Given the description of an element on the screen output the (x, y) to click on. 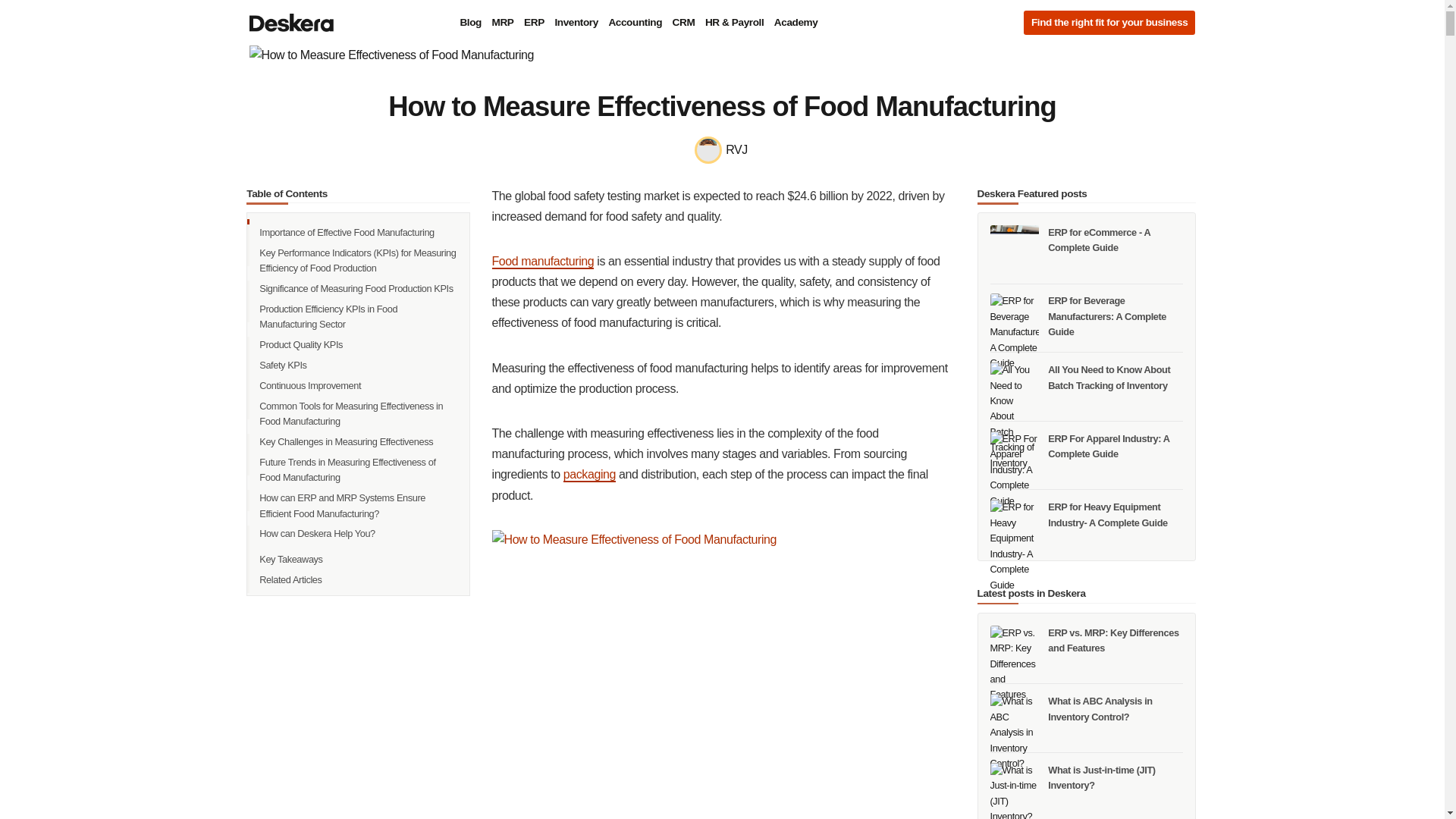
Importance of Effective Food Manufacturing (358, 232)
Inventory (575, 22)
Blog (470, 22)
CRM (683, 22)
Academy (795, 22)
RVJ (722, 149)
ERP (534, 22)
Accounting (634, 22)
MRP (502, 22)
Find the right fit for your business (1109, 22)
